Given the description of an element on the screen output the (x, y) to click on. 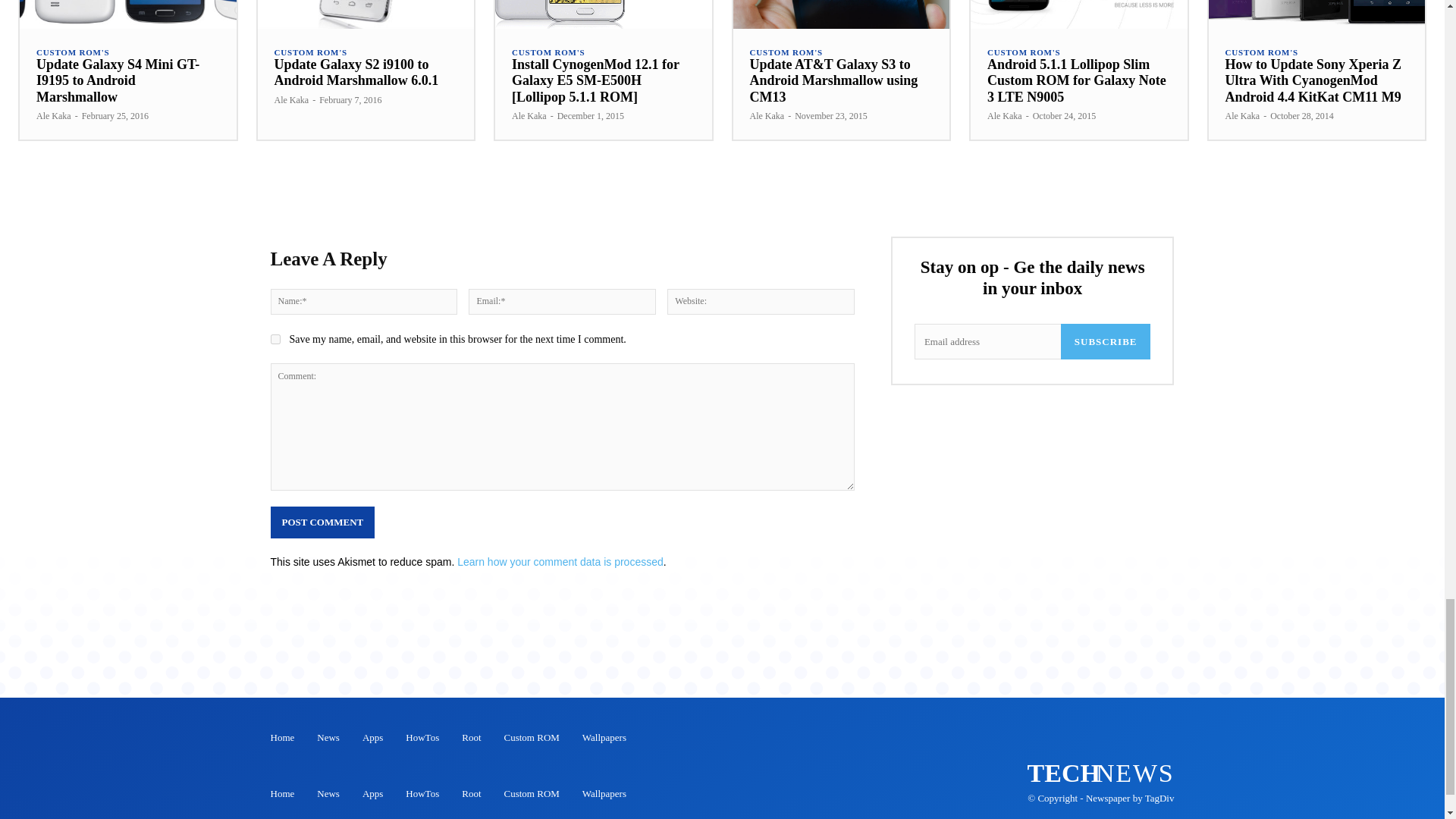
yes (274, 338)
Post Comment (321, 522)
Update Galaxy S4 Mini GT-I9195 to Android Marshmallow (127, 13)
Update Galaxy S4 Mini GT-I9195 to Android Marshmallow (117, 80)
Update Galaxy S2 i9100 to Android Marshmallow 6.0.1 (365, 13)
Update Galaxy S2 i9100 to Android Marshmallow 6.0.1 (357, 72)
